Given the description of an element on the screen output the (x, y) to click on. 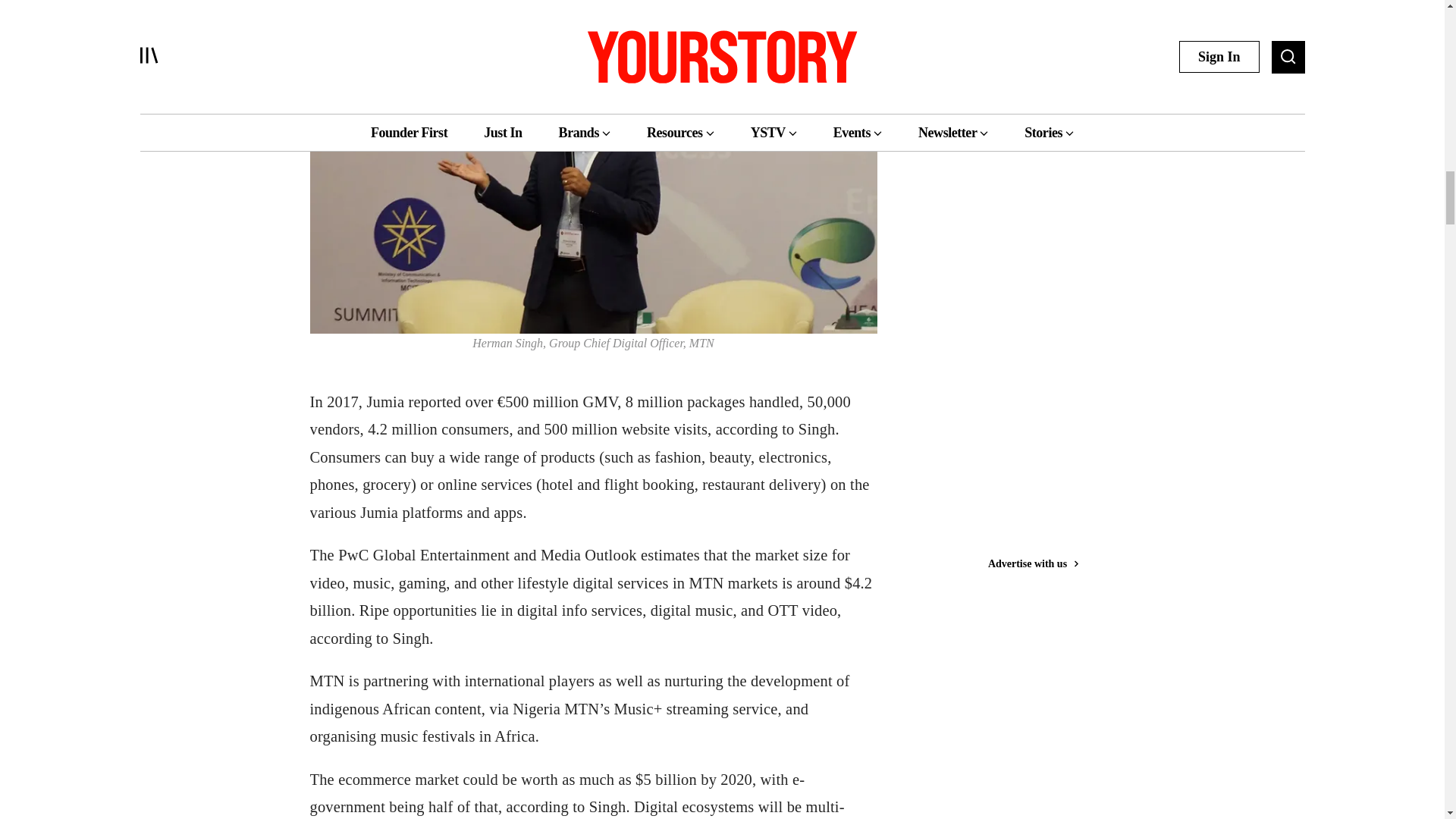
3rd party ad content (1043, 115)
